Given the description of an element on the screen output the (x, y) to click on. 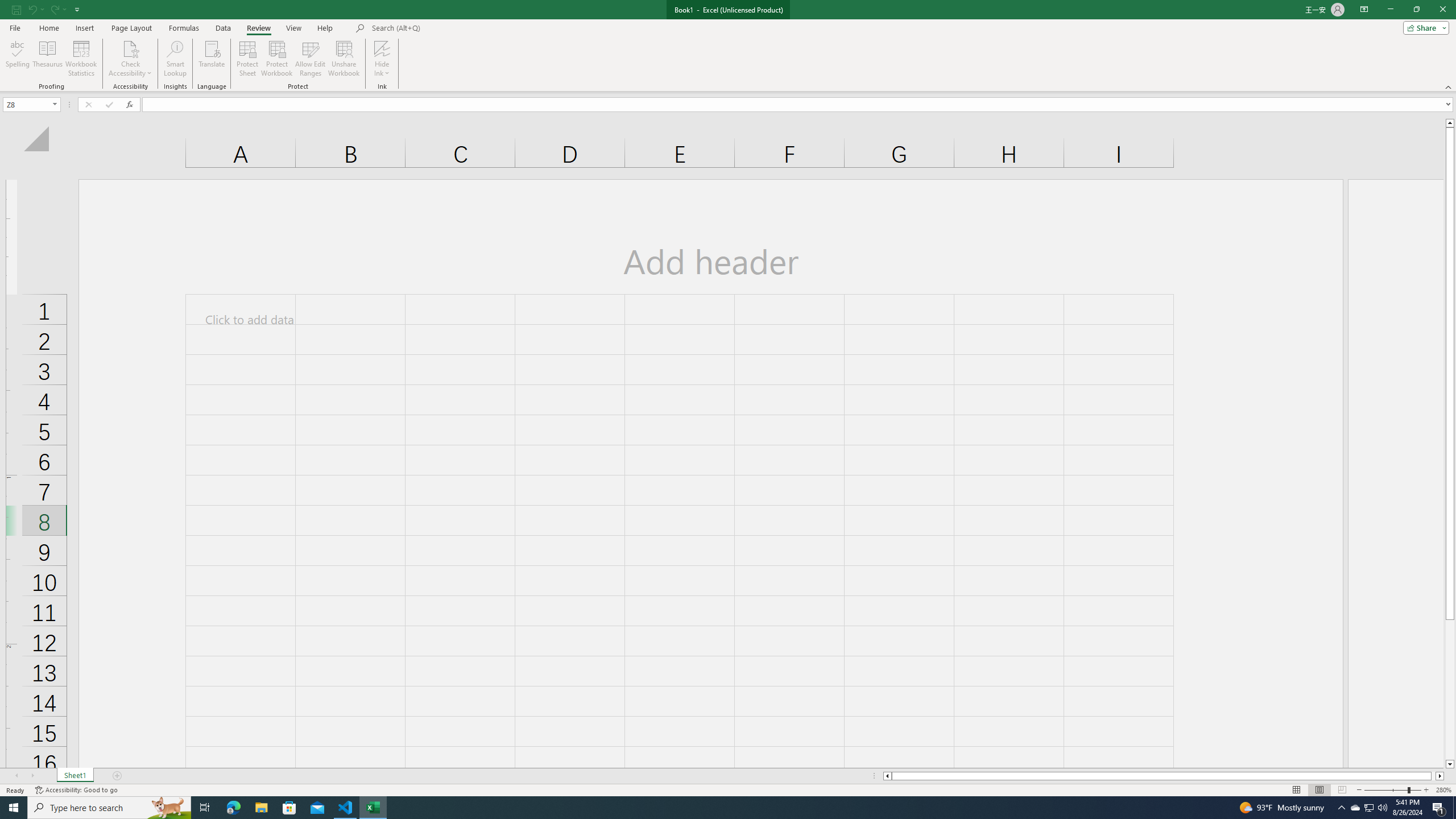
Check Accessibility (129, 58)
Workbook Statistics (81, 58)
Unshare Workbook (344, 58)
Thesaurus... (47, 58)
